Given the description of an element on the screen output the (x, y) to click on. 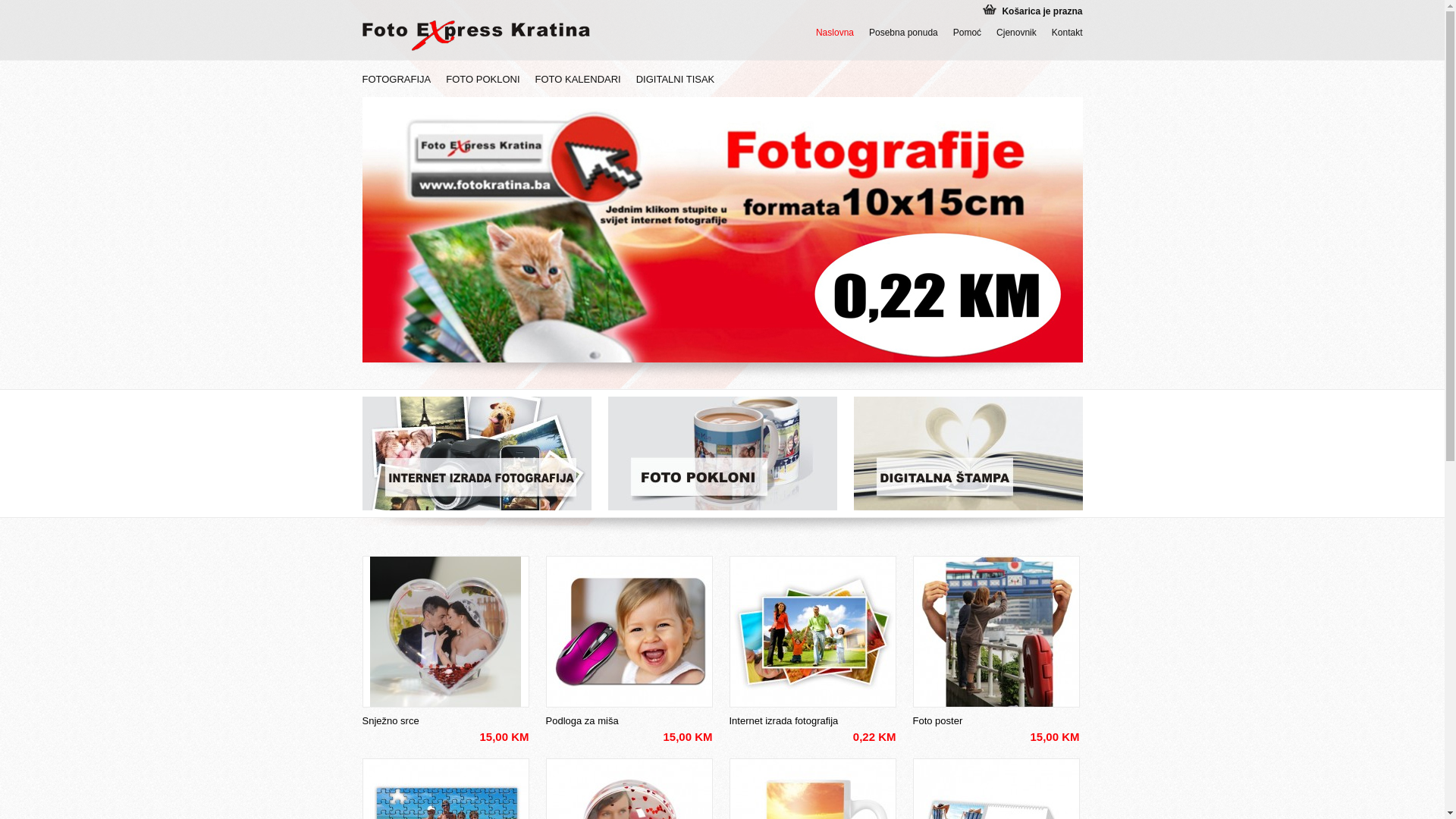
Kontakt Element type: text (1066, 31)
Foto poster Element type: text (996, 720)
Posebna ponuda Element type: text (903, 31)
FOTO POKLONI Element type: text (482, 80)
DIGITALNI TISAK Element type: text (675, 80)
FOTO KALENDARI Element type: text (578, 80)
Cjenovnik Element type: text (1016, 31)
Internet izrada fotografija Element type: text (812, 720)
Naslovna Element type: text (834, 31)
FOTOGRAFIJA Element type: text (396, 80)
